Given the description of an element on the screen output the (x, y) to click on. 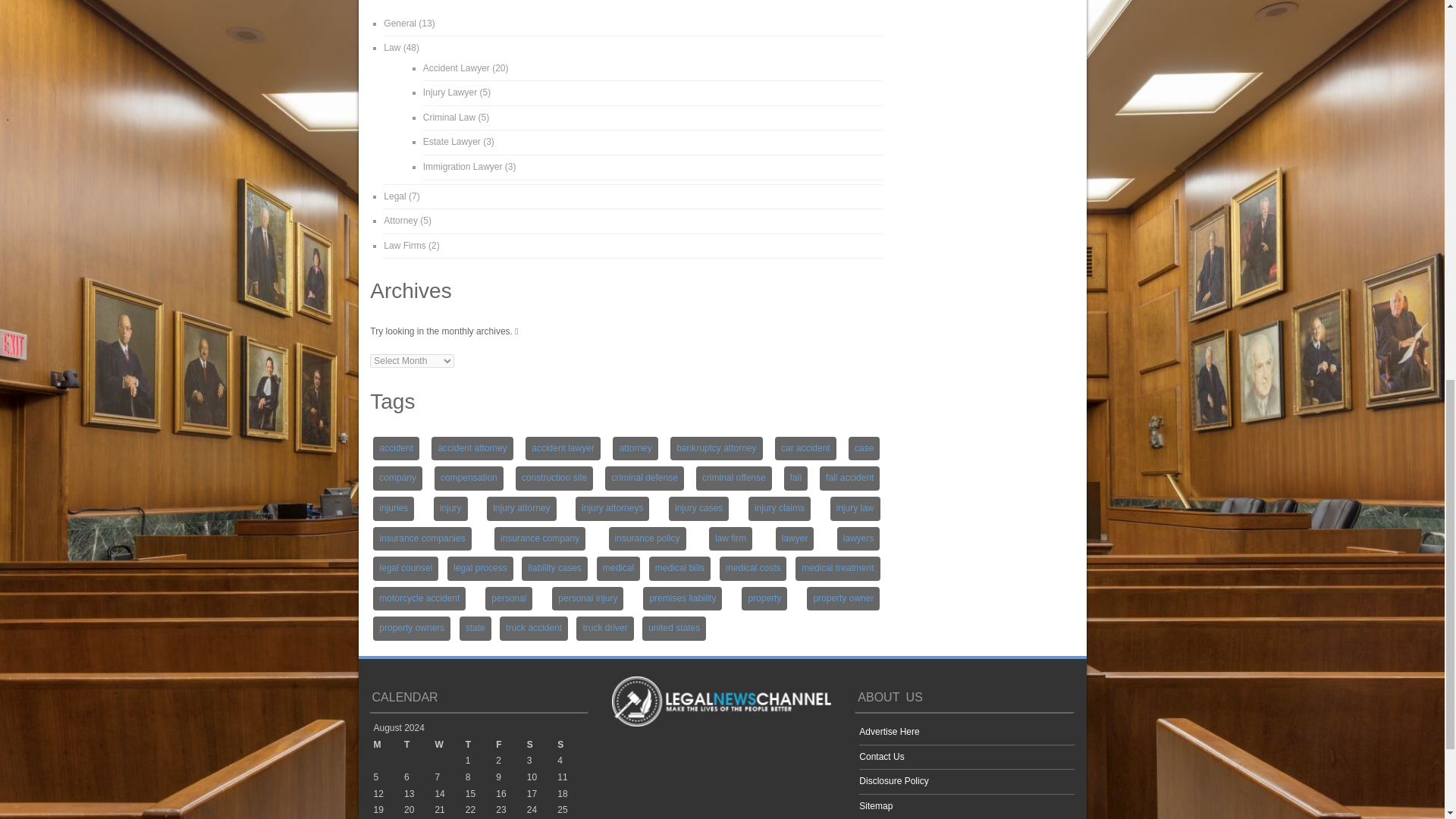
Saturday (542, 745)
Sunday (572, 745)
Monday (387, 745)
Friday (510, 745)
Wednesday (448, 745)
Thursday (480, 745)
Tuesday (418, 745)
